Given the description of an element on the screen output the (x, y) to click on. 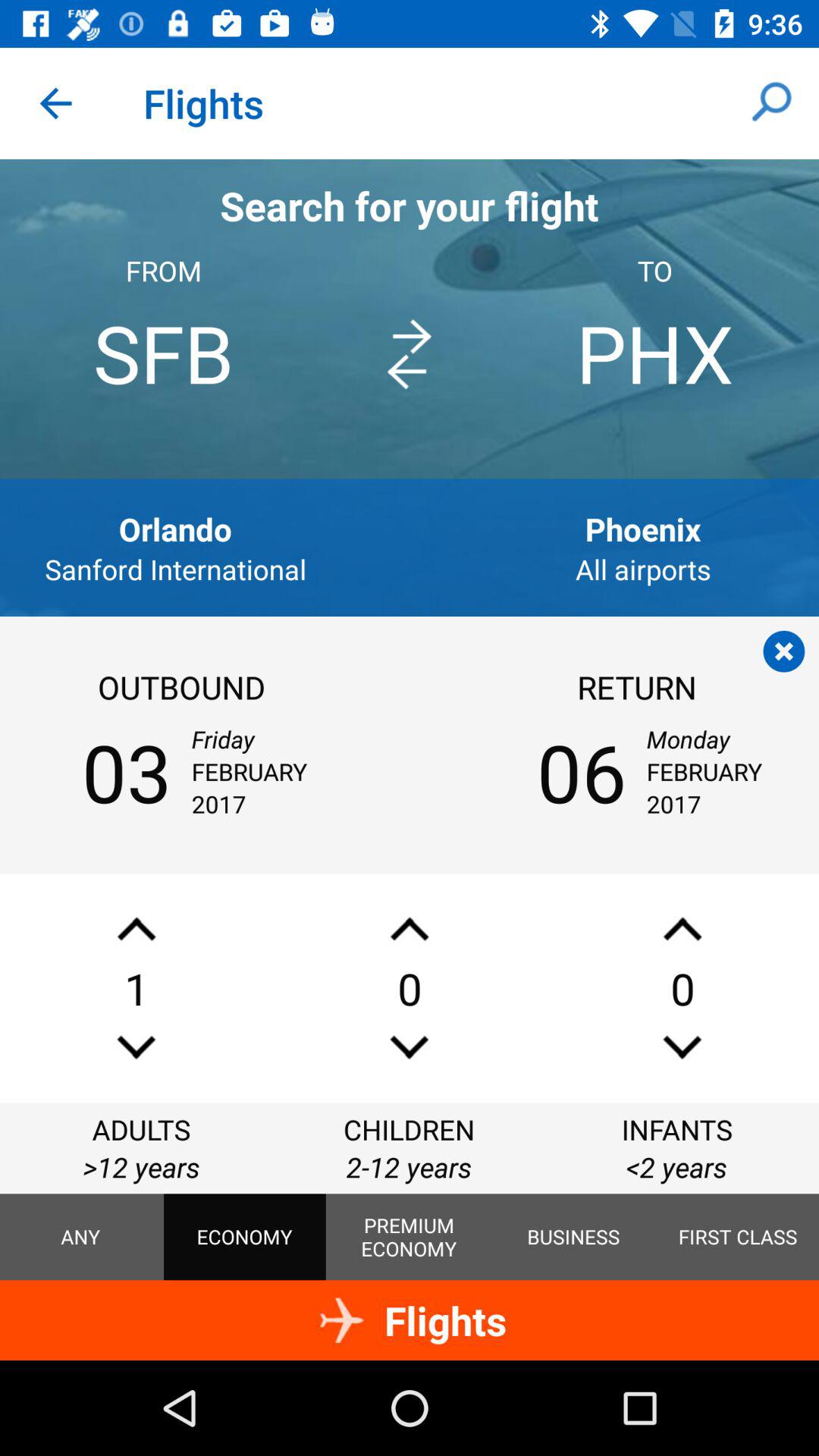
choose icon to the left of economy item (80, 1236)
